Given the description of an element on the screen output the (x, y) to click on. 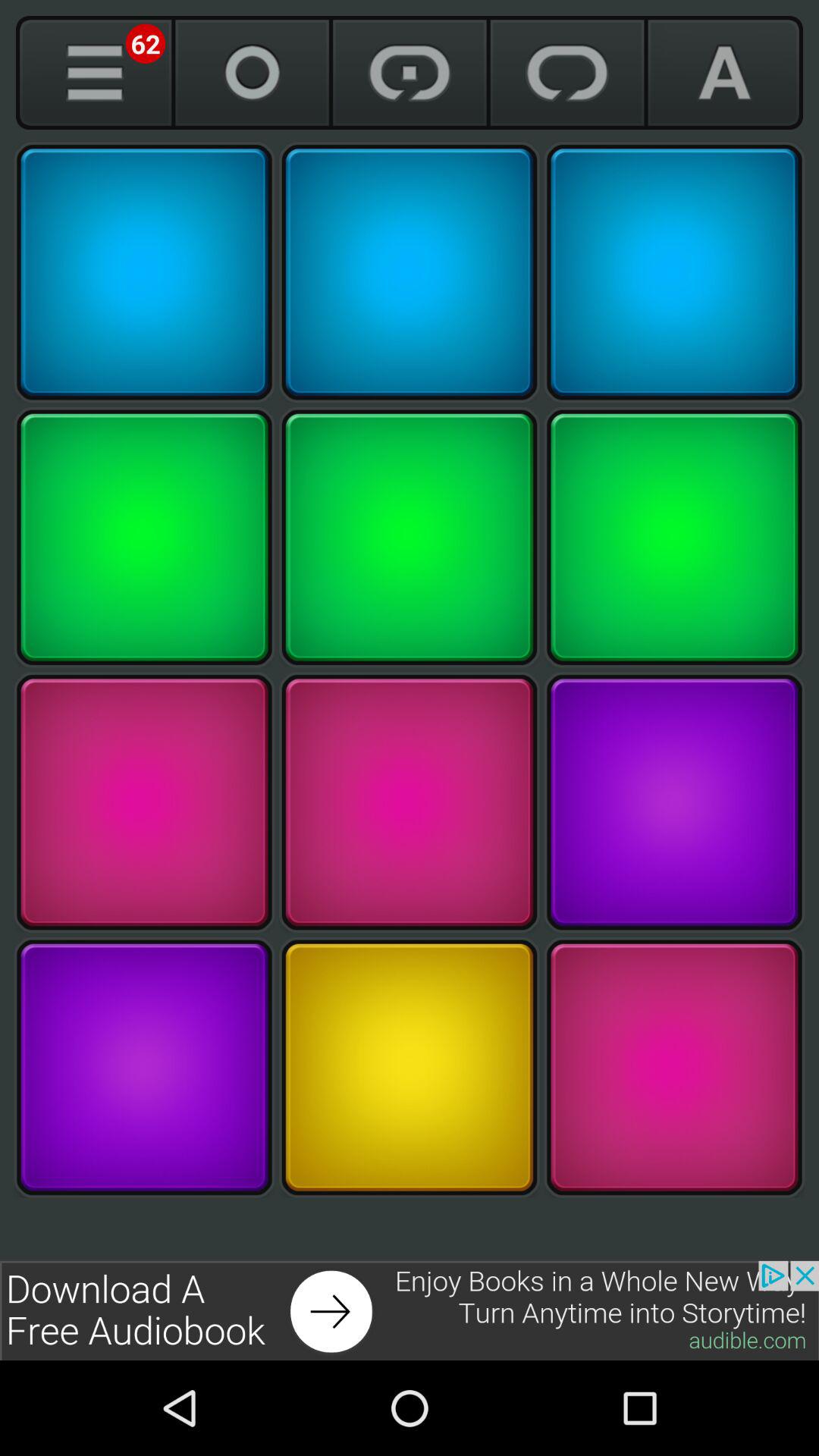
drum beat (674, 1067)
